Given the description of an element on the screen output the (x, y) to click on. 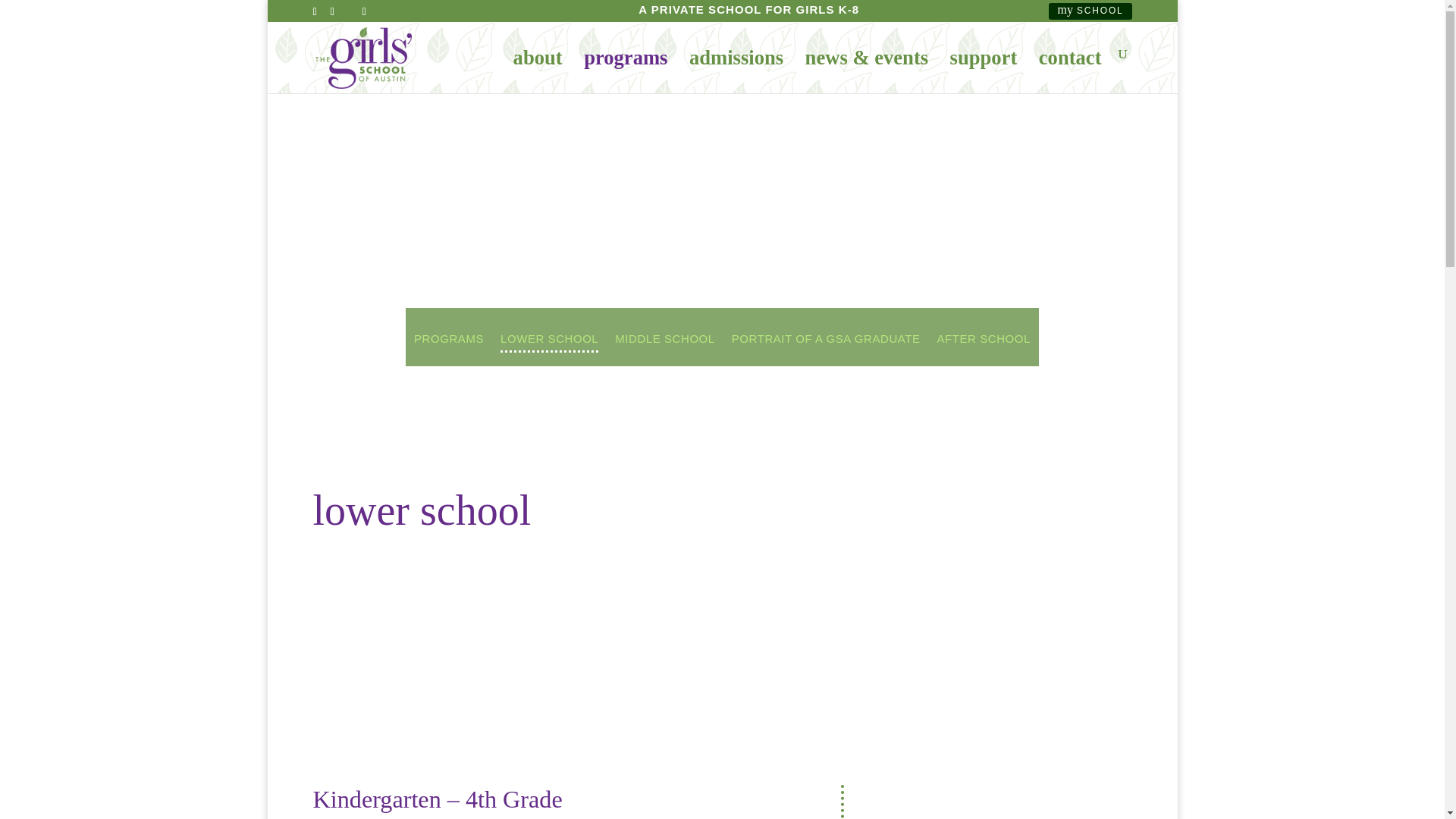
PORTRAIT OF A GSA GRADUATE (826, 349)
Untitled design - 2023-08-24T133941.683 (1001, 801)
my SCHOOL (1089, 9)
PROGRAMS (448, 349)
programs (624, 70)
contact (1070, 70)
admissions (735, 70)
MIDDLE SCHOOL (664, 349)
LOWER SCHOOL (549, 349)
support (983, 70)
about (537, 70)
